Given the description of an element on the screen output the (x, y) to click on. 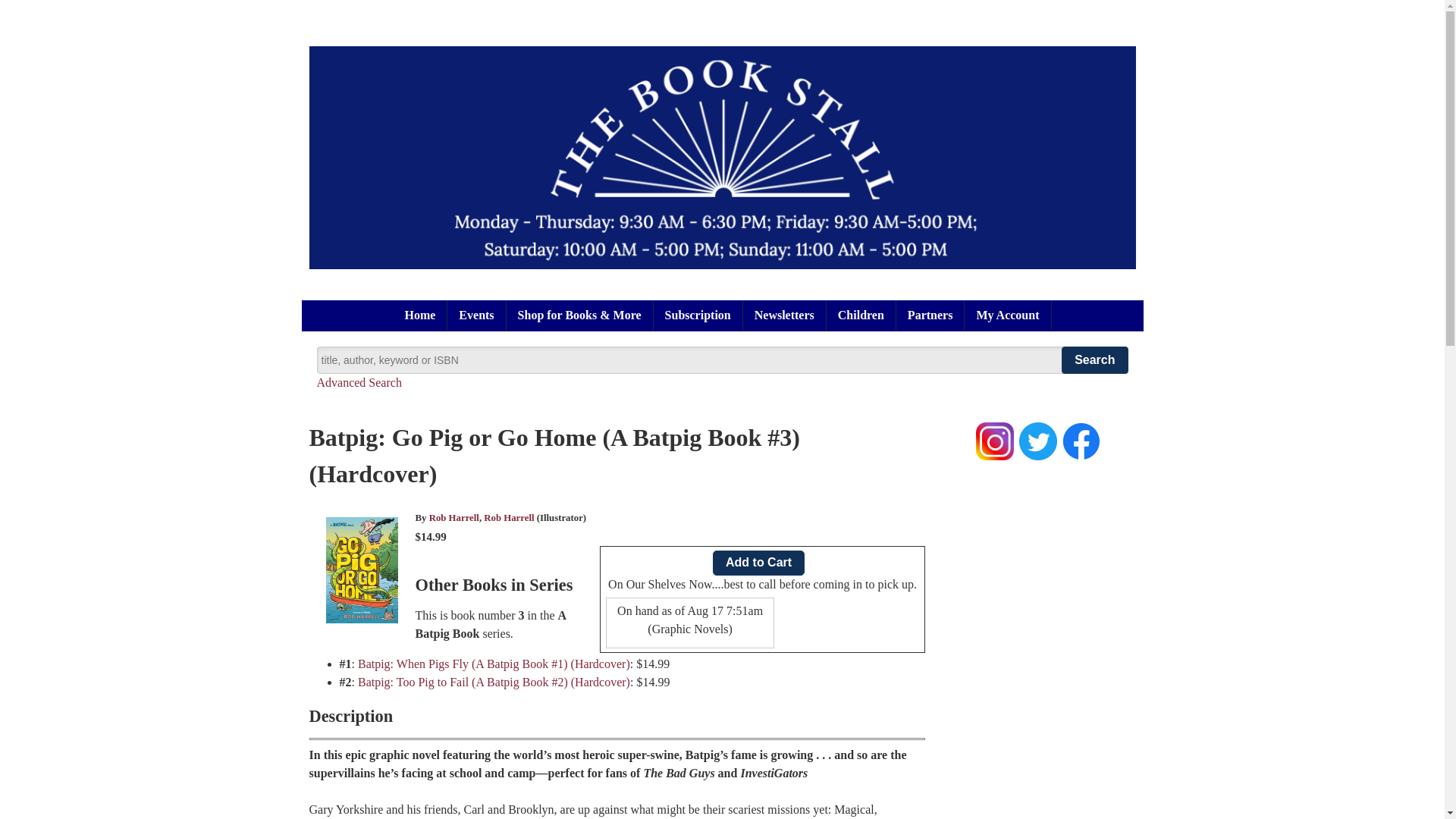
Events (475, 315)
Children (861, 315)
Subscription (697, 315)
Partners (930, 315)
Enter the terms you wish to search for. (721, 359)
Advanced Search (359, 382)
Home (419, 315)
Add to Cart (759, 562)
Search (1093, 359)
